Given the description of an element on the screen output the (x, y) to click on. 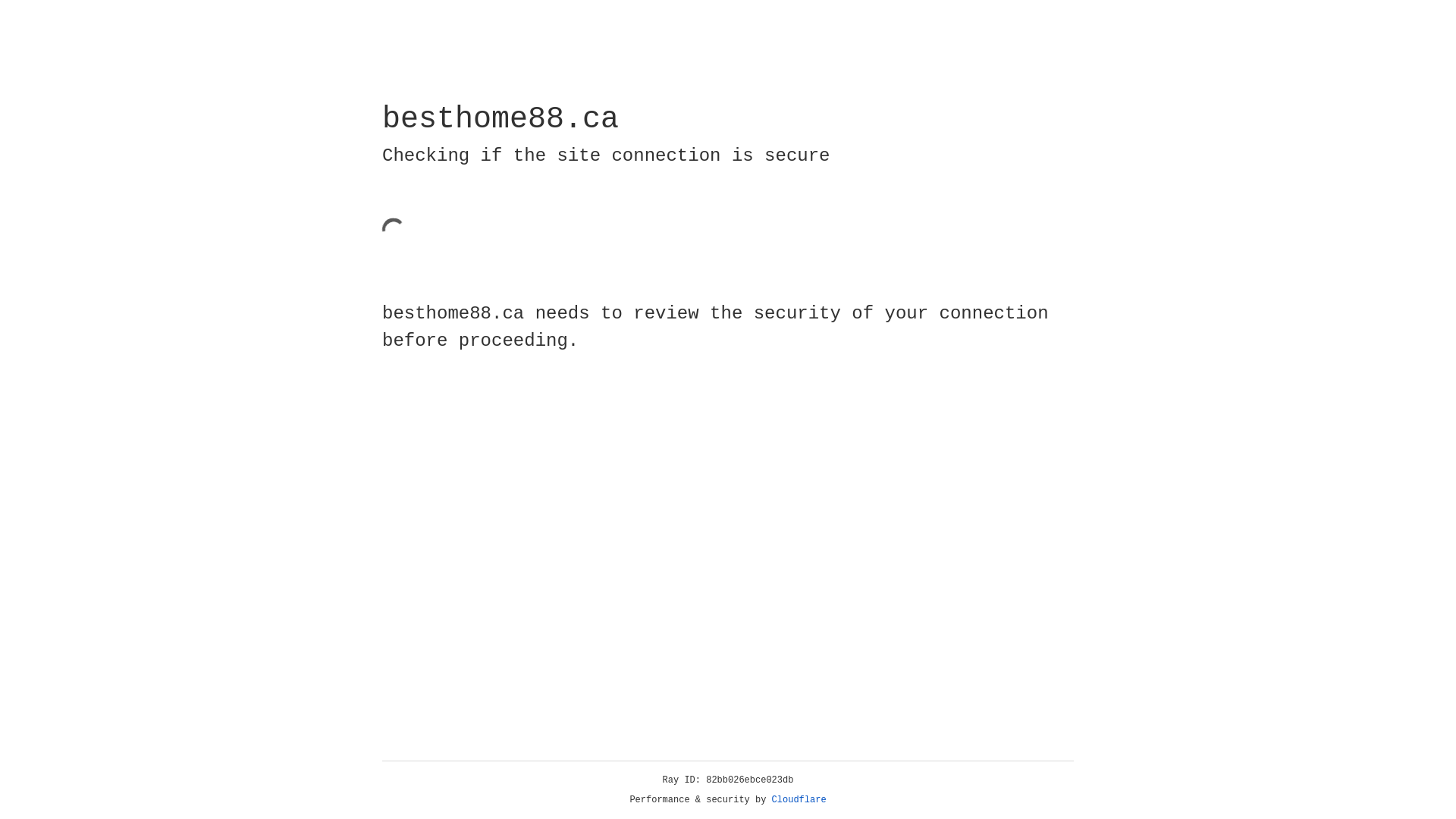
Cloudflare Element type: text (798, 799)
